Given the description of an element on the screen output the (x, y) to click on. 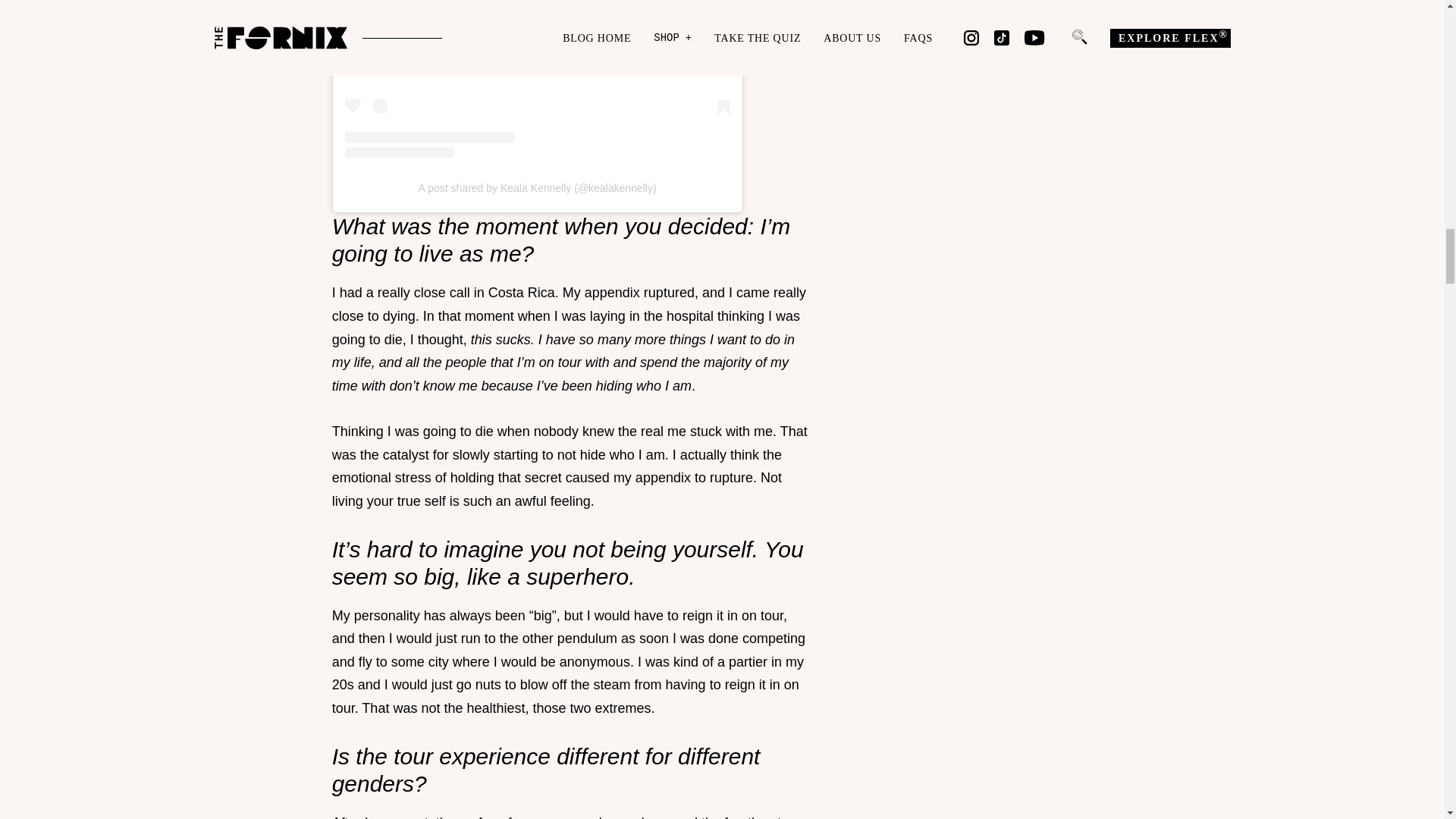
View this post on Instagram (537, 79)
